Given the description of an element on the screen output the (x, y) to click on. 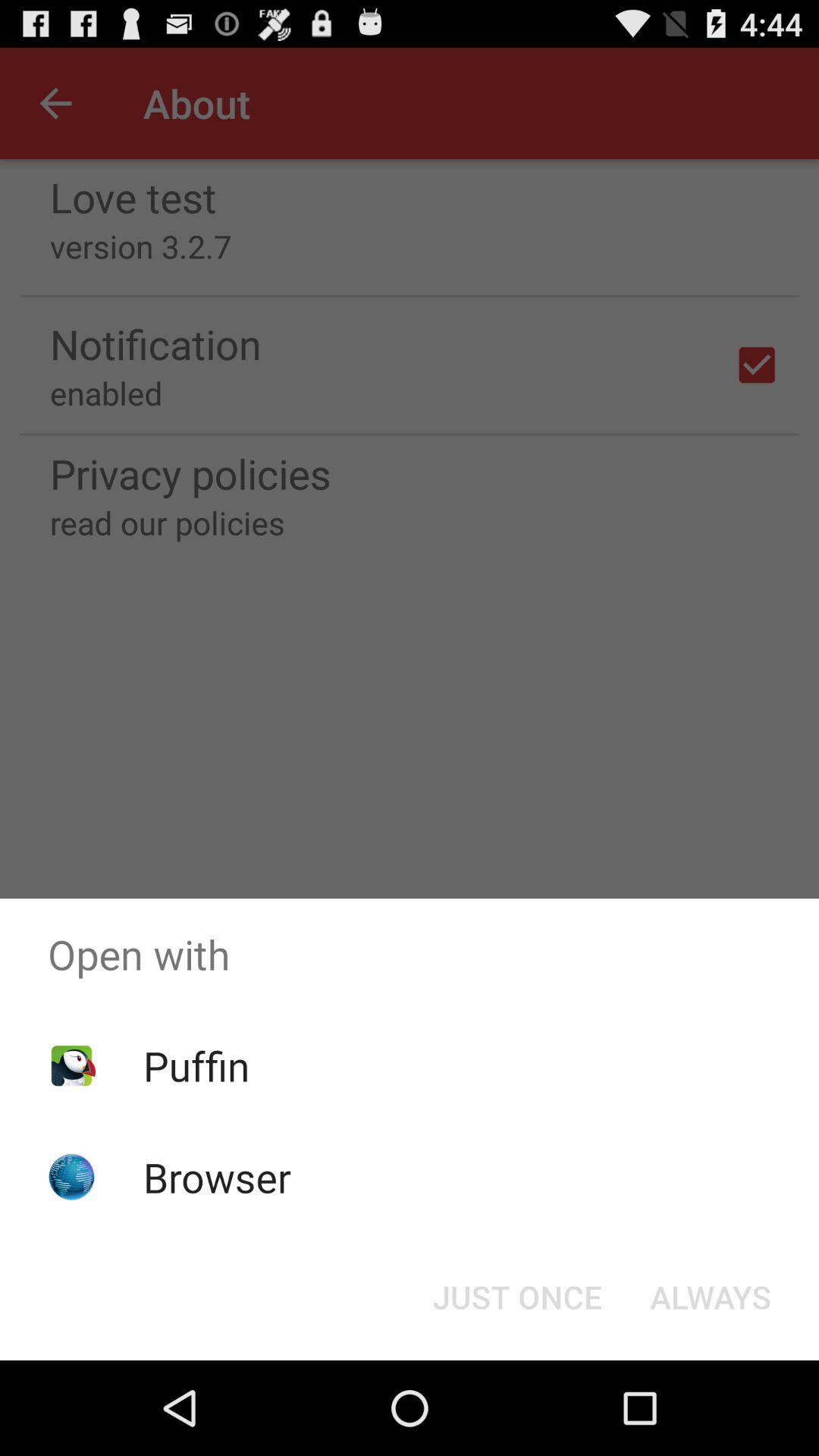
choose the item next to always button (517, 1296)
